Given the description of an element on the screen output the (x, y) to click on. 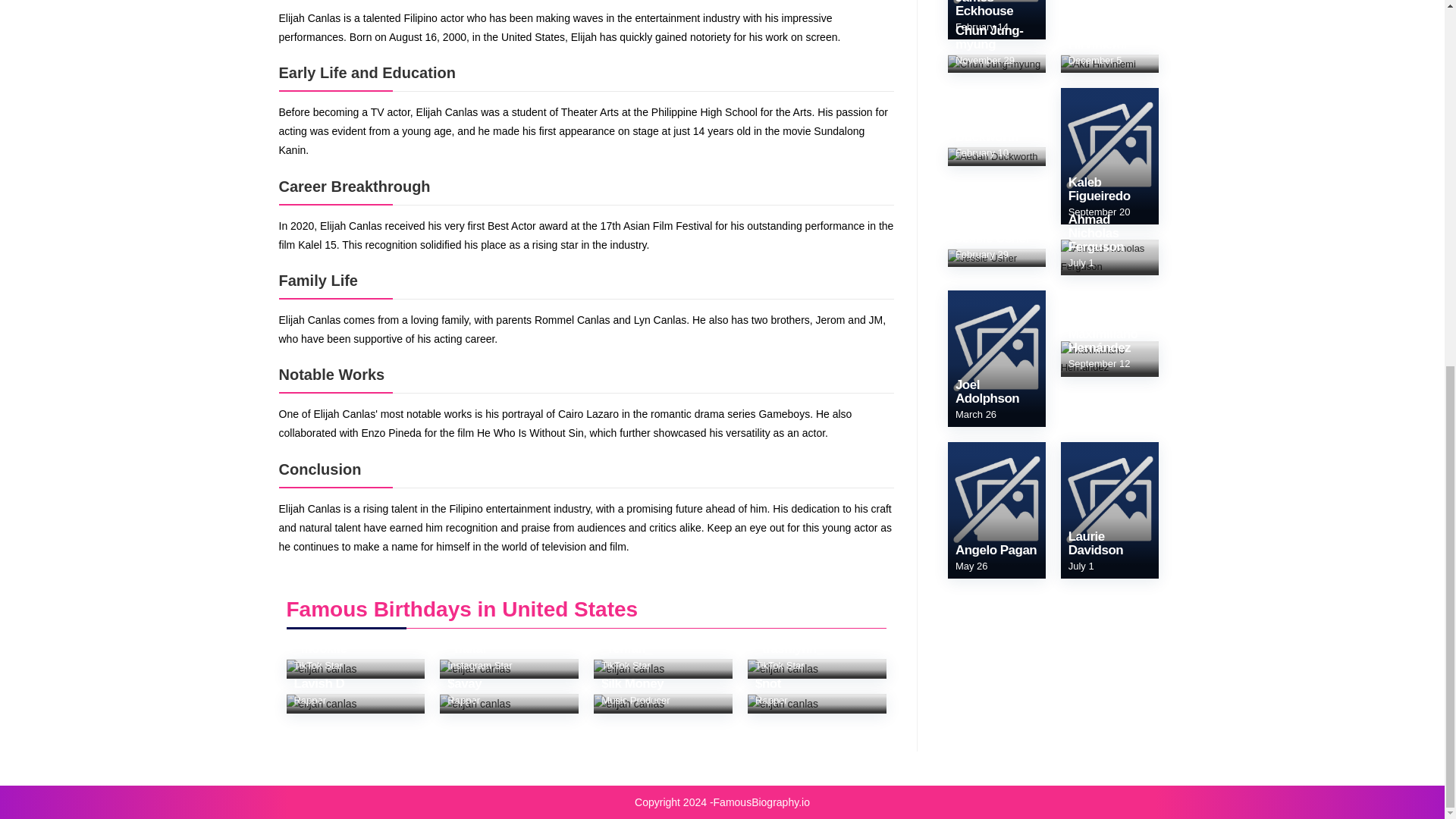
Lavish D (319, 691)
elijah canlas (783, 669)
elijah canlas (628, 703)
elijah canlas (321, 703)
TikTok Star (780, 665)
elijah canlas (628, 669)
elijah canlas (475, 703)
Famous Birthdays in United States (462, 608)
Instagram Star (479, 665)
elijah canlas (475, 669)
Lavish D (319, 691)
Rapper (463, 699)
elijah canlas (321, 669)
TikTok Star (318, 665)
TikTok Star (625, 665)
